Given the description of an element on the screen output the (x, y) to click on. 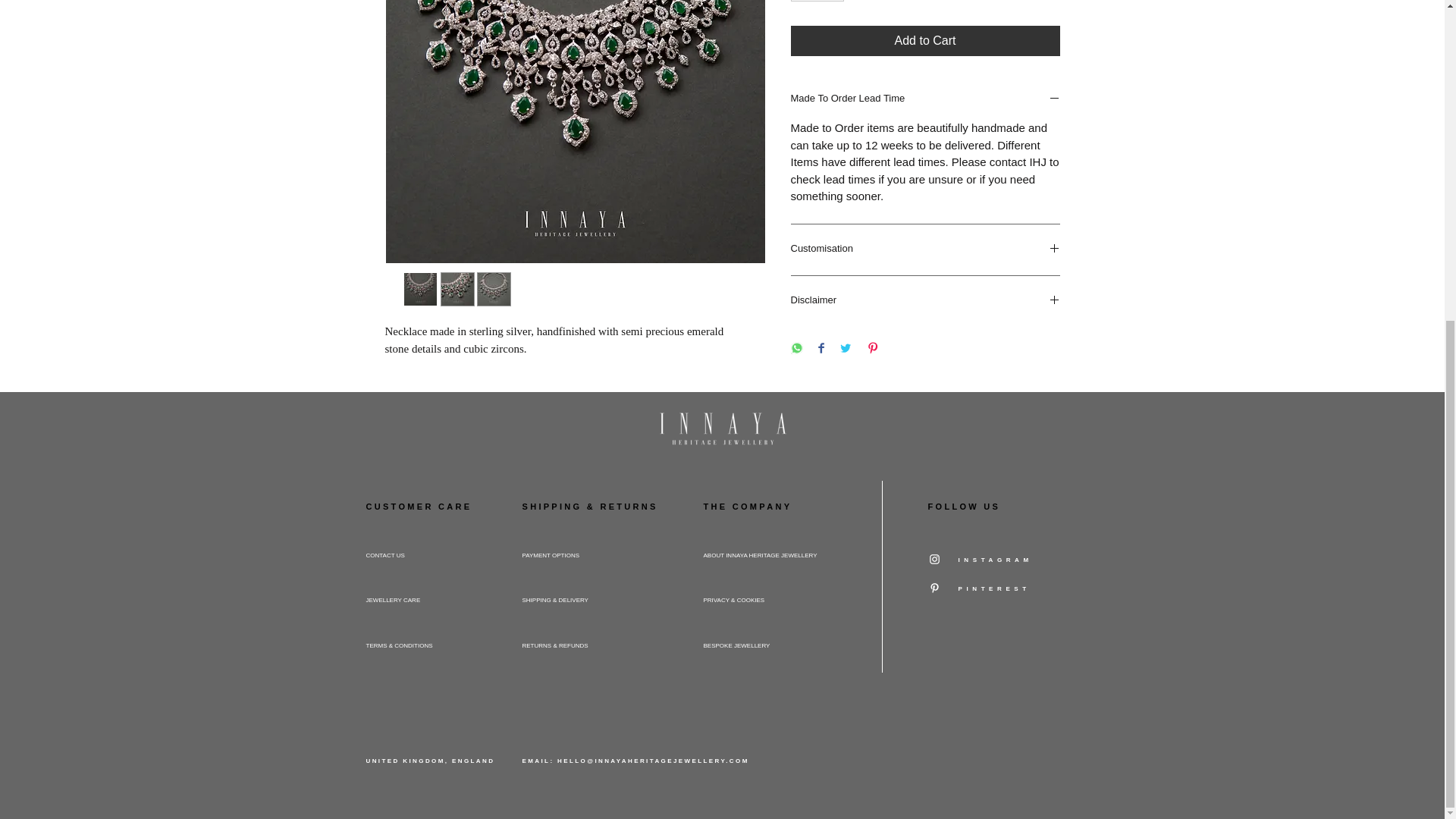
1 (817, 1)
